Given the description of an element on the screen output the (x, y) to click on. 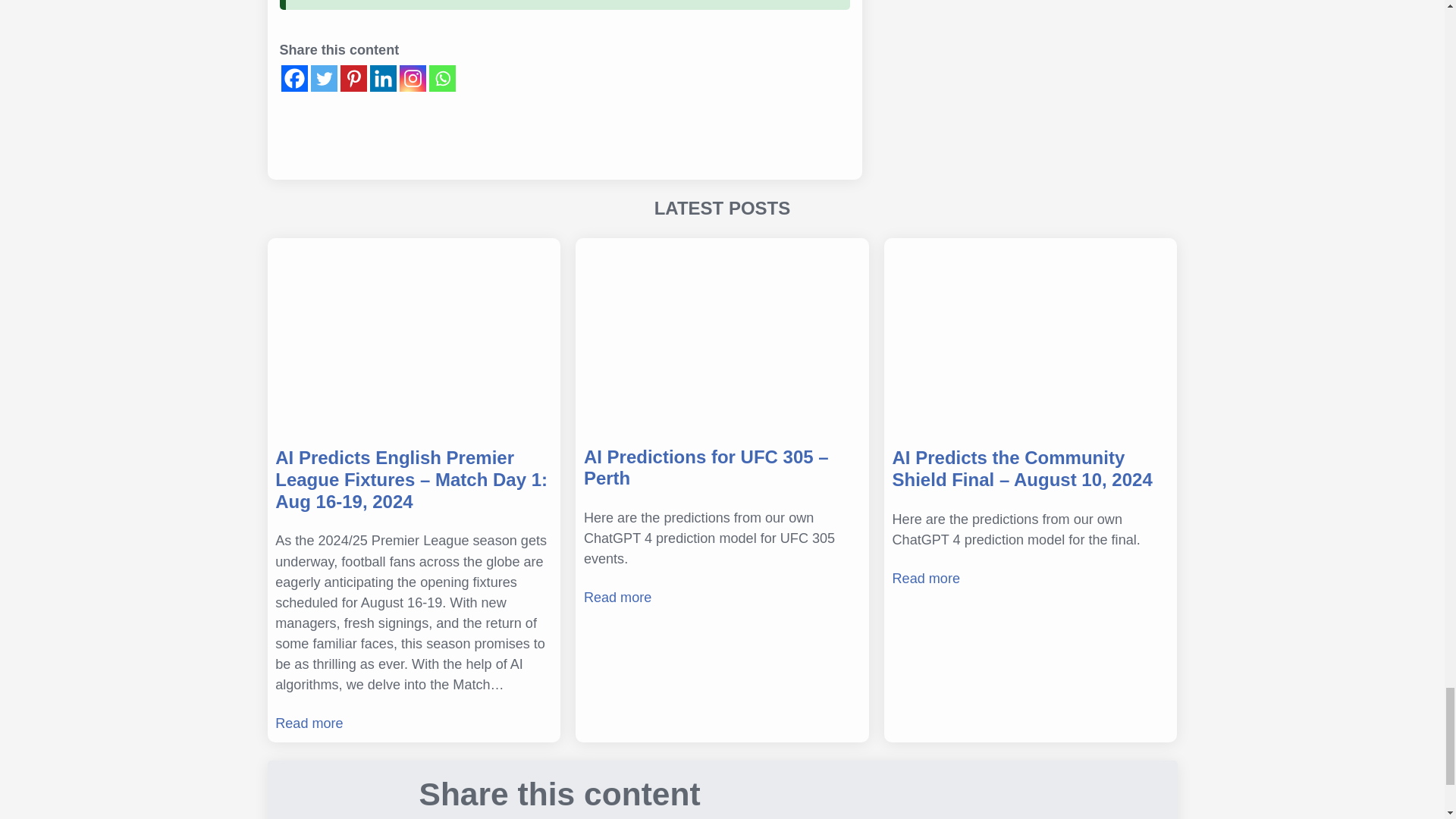
Twitter (324, 78)
Instagram (411, 78)
Facebook (294, 78)
Linkedin (382, 78)
Whatsapp (442, 78)
Pinterest (352, 78)
